Given the description of an element on the screen output the (x, y) to click on. 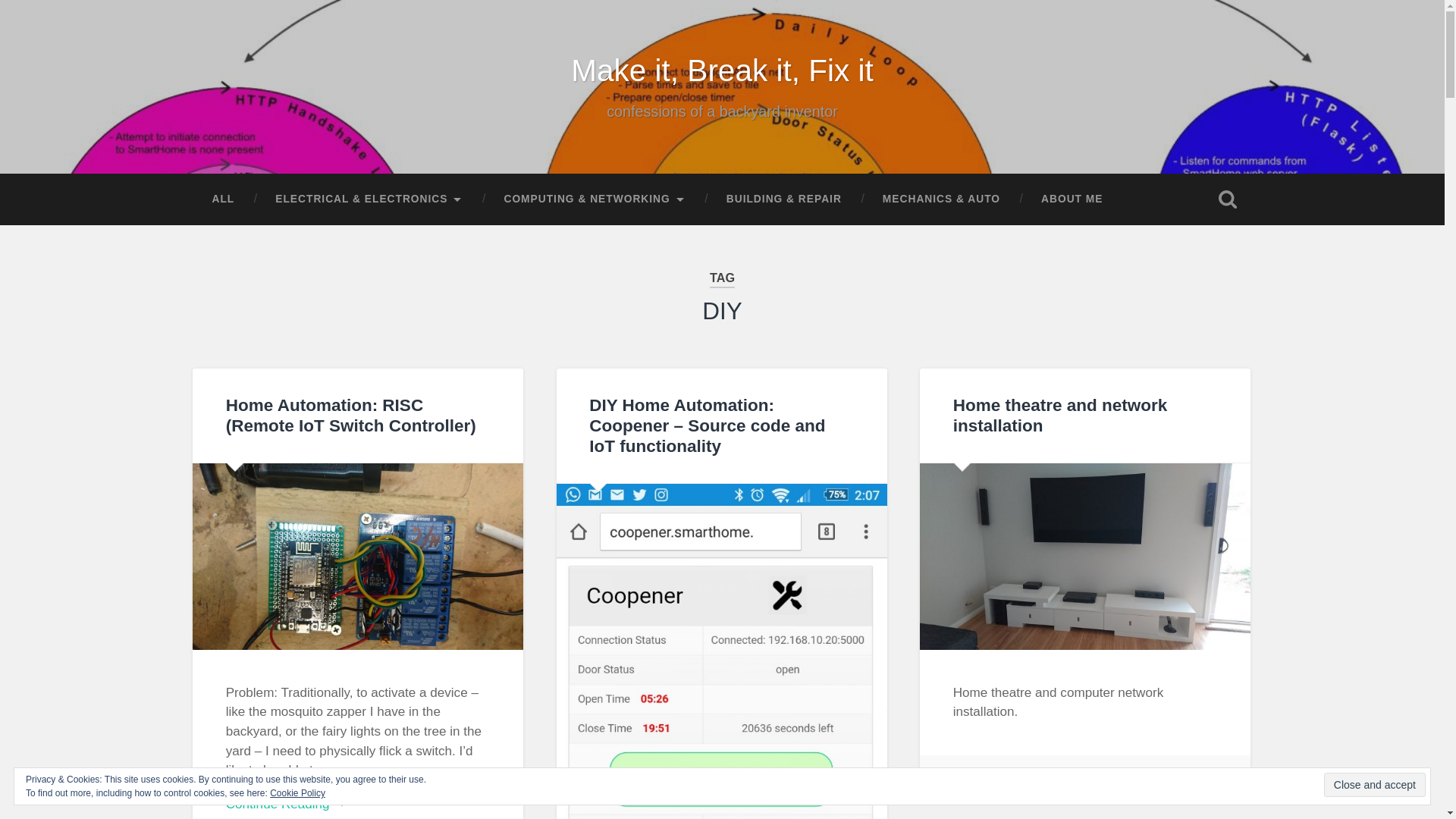
ALL (222, 199)
Close and accept (1374, 784)
Home theatre and network installation (1060, 414)
Make it, Break it, Fix it (721, 70)
ABOUT ME (1071, 199)
